Given the description of an element on the screen output the (x, y) to click on. 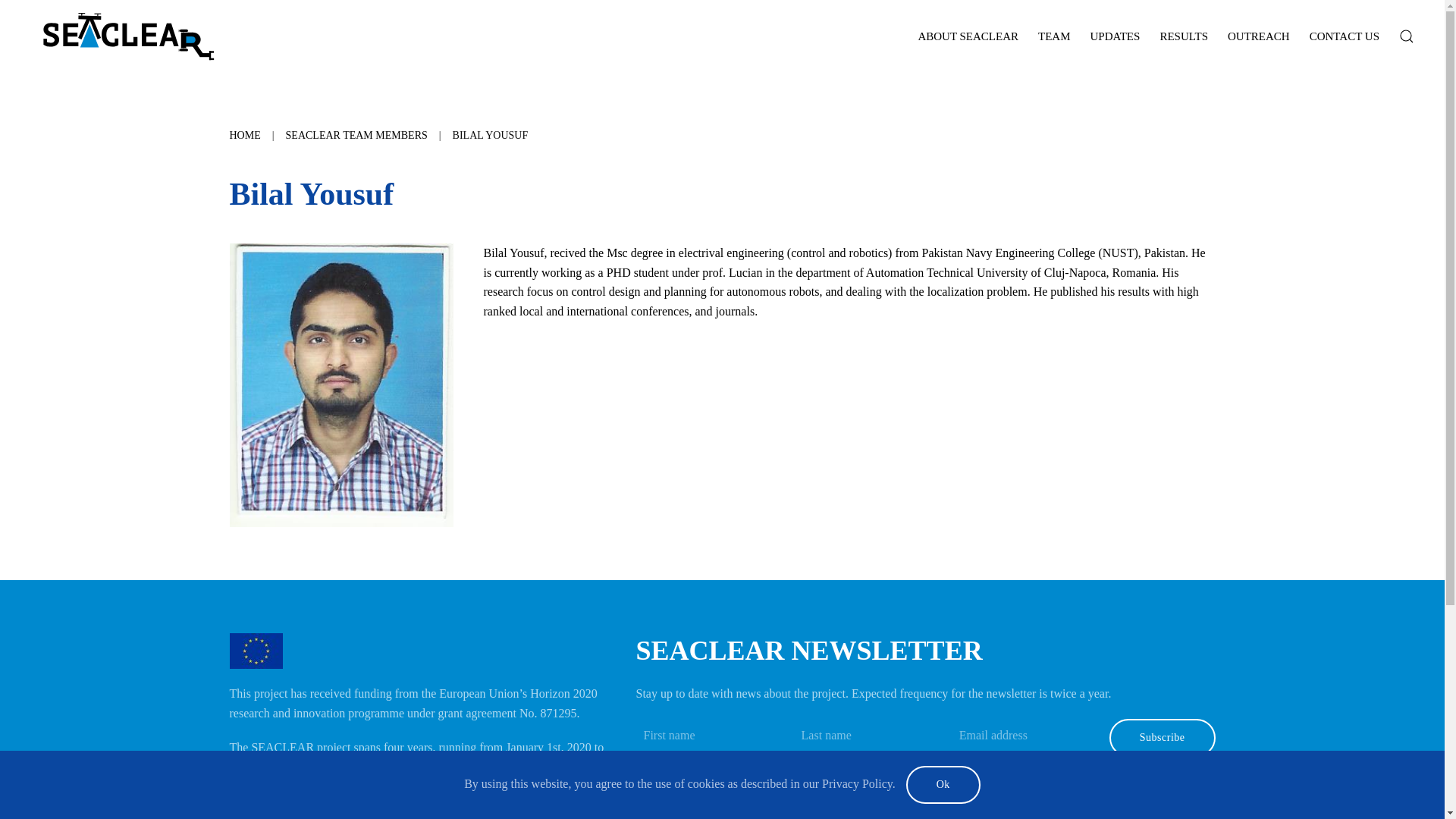
HOME (244, 134)
UPDATES (1115, 36)
CONTACT US (1344, 36)
SEACLEAR TEAM MEMBERS (356, 134)
ABOUT SEACLEAR (967, 36)
RESULTS (1183, 36)
Subscribe (1162, 737)
OUTREACH (1258, 36)
